Given the description of an element on the screen output the (x, y) to click on. 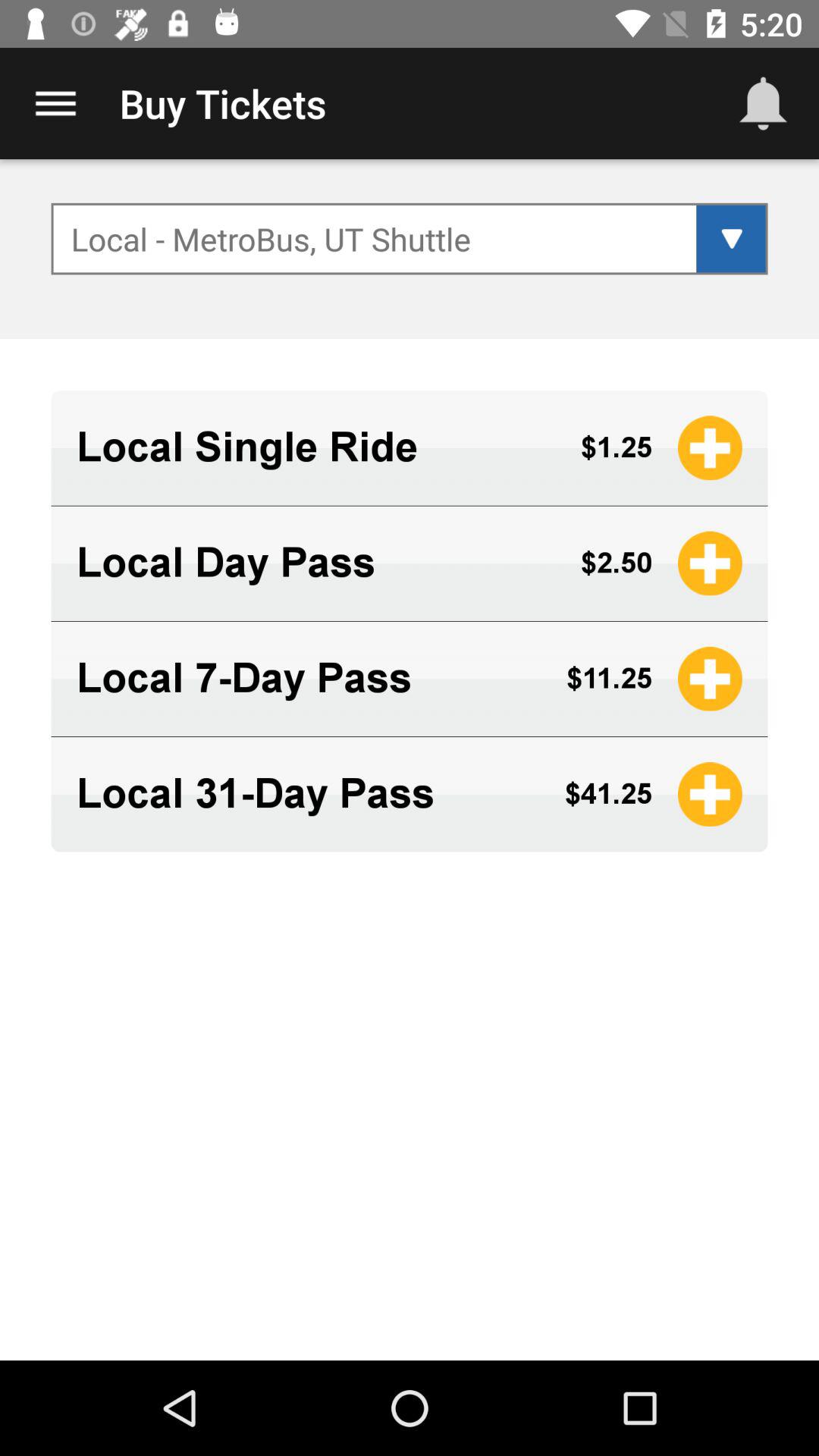
tap item above the local day pass icon (315, 447)
